Given the description of an element on the screen output the (x, y) to click on. 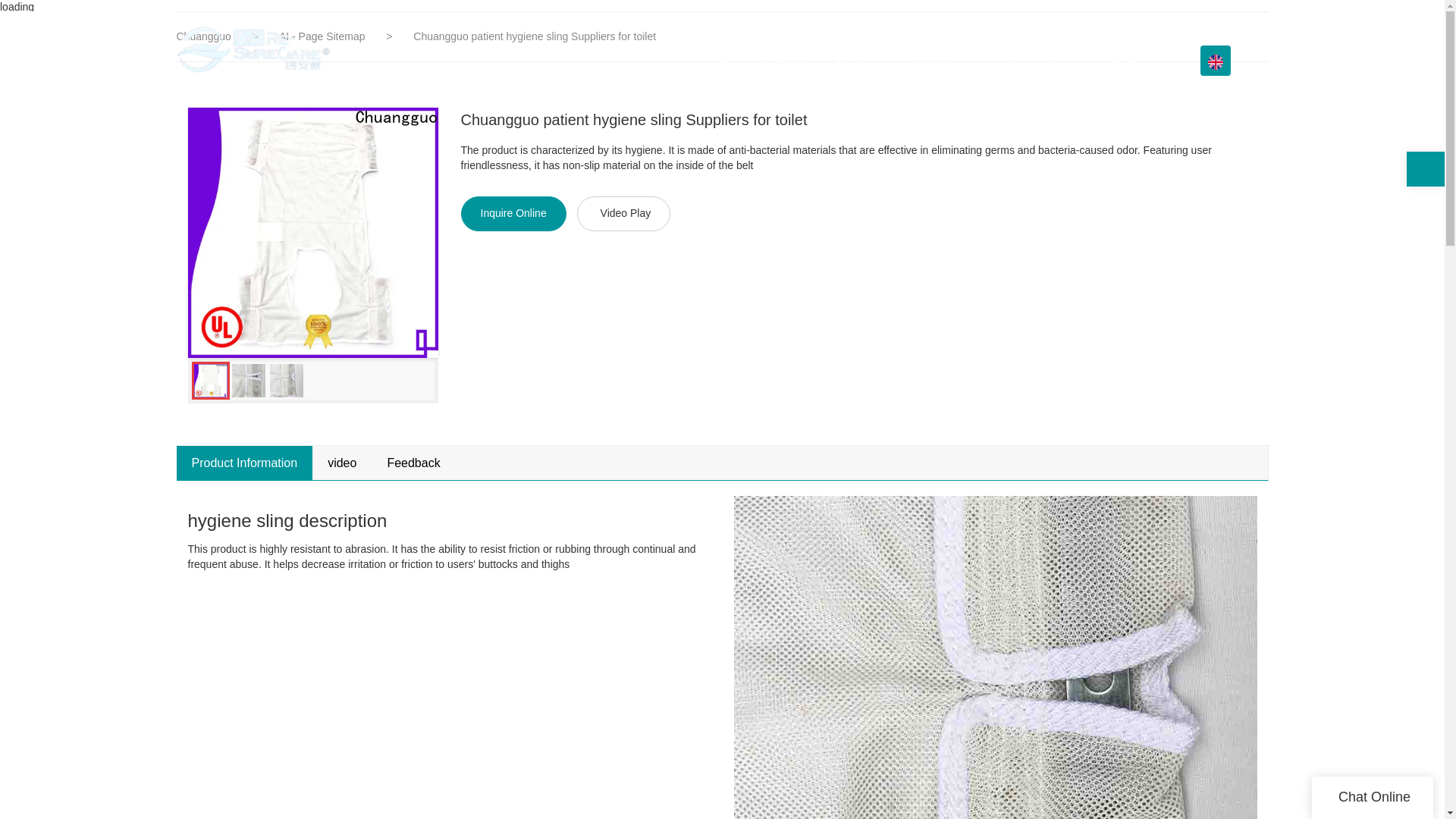
CONTACT US (1131, 60)
Product Information (244, 462)
PRODUCTS (948, 60)
Info Center (1040, 60)
video (342, 462)
Feedback (412, 462)
ABOUT US (862, 60)
AI - Page Sitemap (323, 36)
Inquire Online (513, 213)
Video Play (623, 213)
Chuangguo (203, 36)
